Given the description of an element on the screen output the (x, y) to click on. 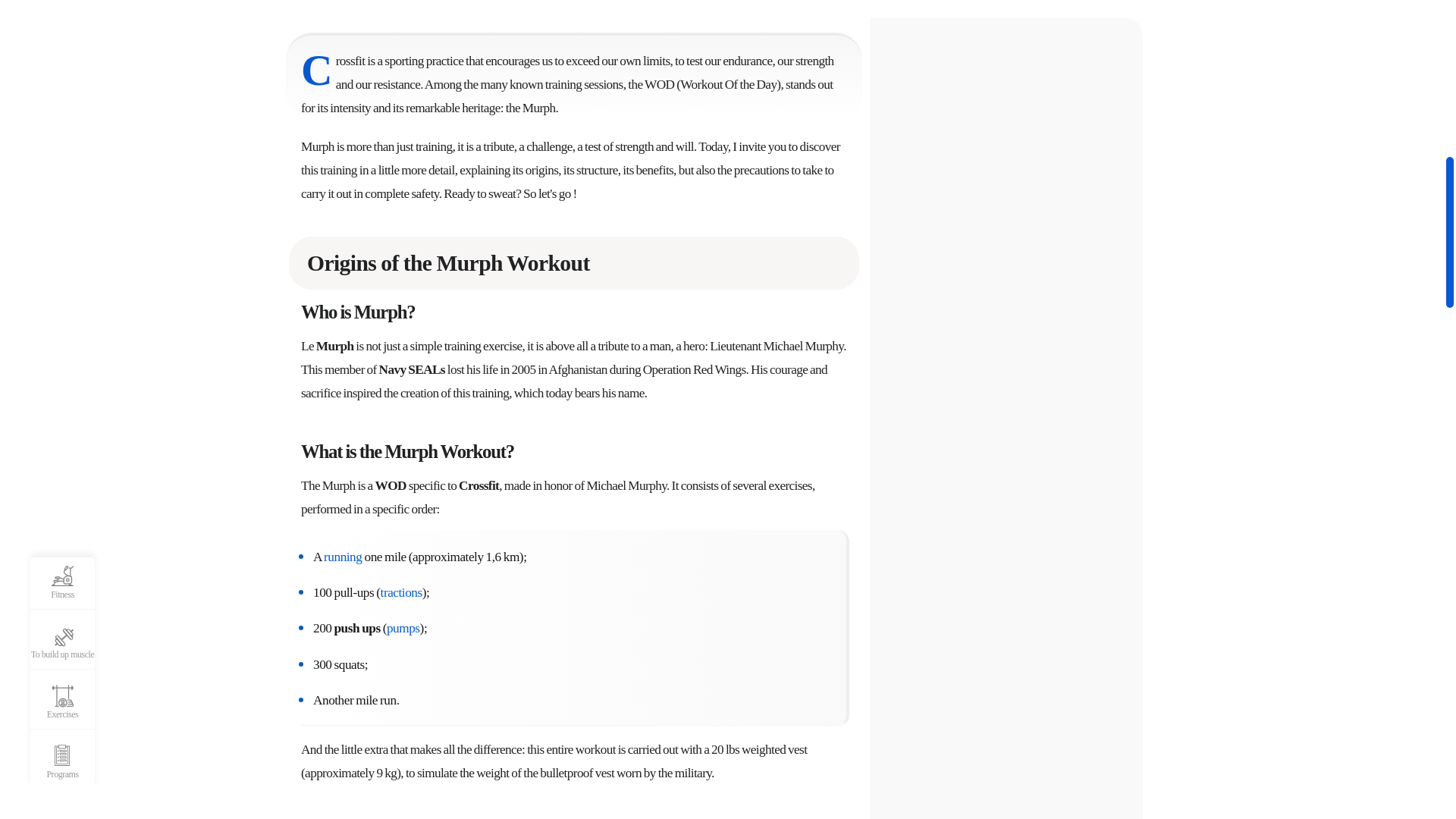
Running (342, 557)
Traction (401, 592)
Pumps (403, 628)
